Given the description of an element on the screen output the (x, y) to click on. 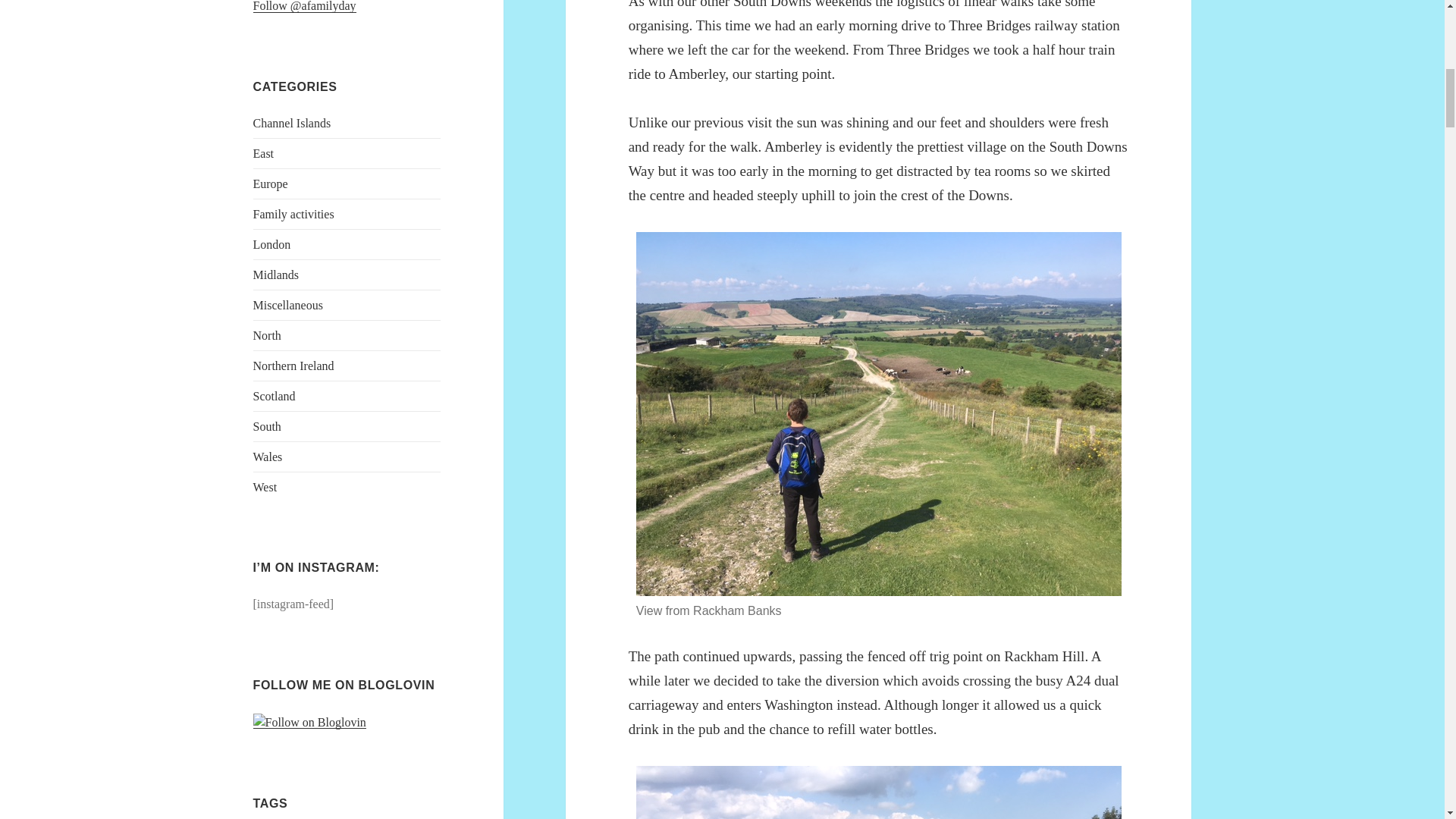
Midlands (275, 274)
Europe (270, 183)
Miscellaneous (288, 305)
West (265, 486)
Channel Islands (292, 123)
South (267, 426)
Family activities (293, 214)
Northern Ireland (293, 365)
Follow A family day out on Bloglovin (309, 721)
Wales (267, 456)
